Given the description of an element on the screen output the (x, y) to click on. 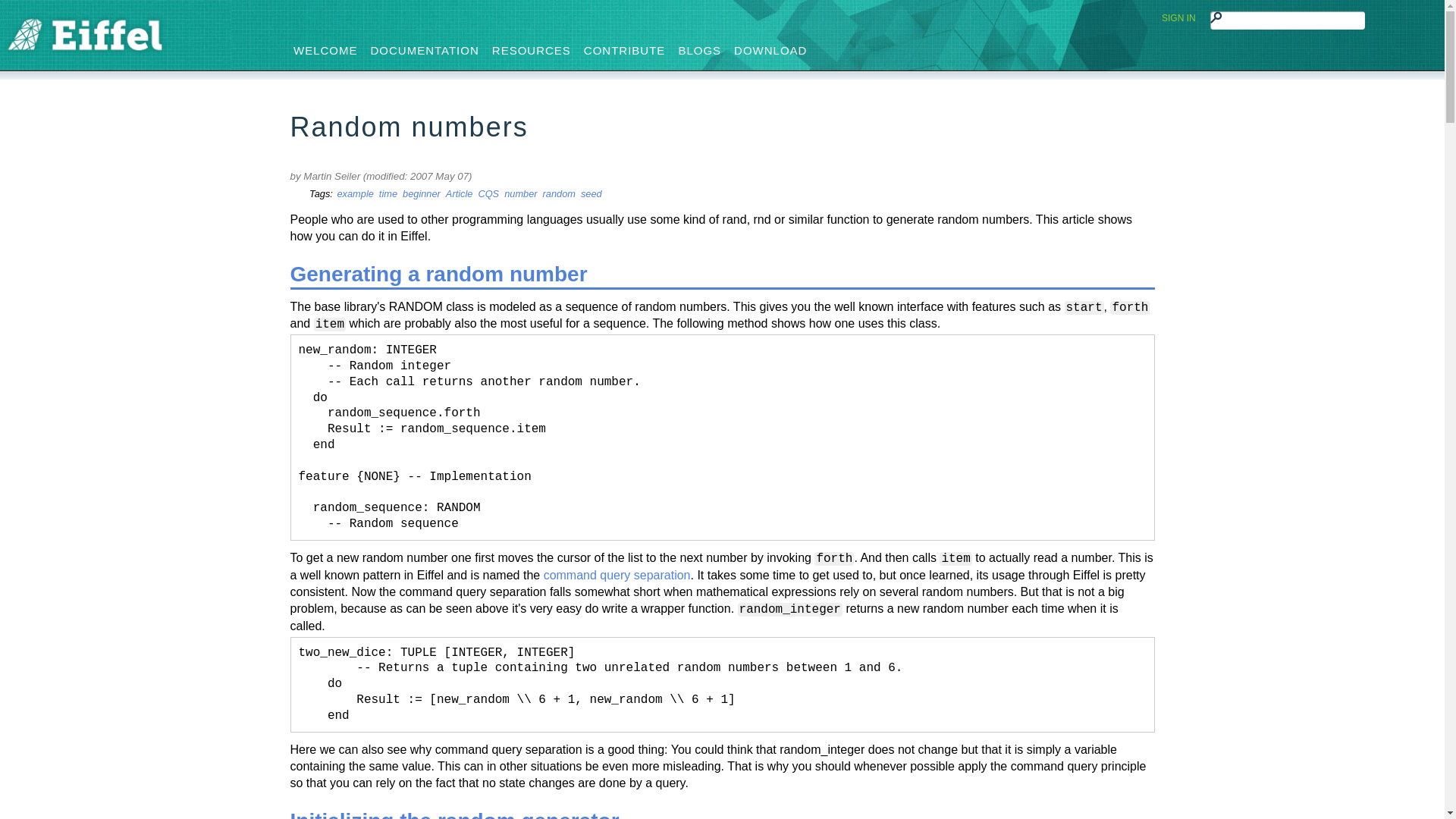
WELCOME (325, 49)
DOCUMENTATION (424, 49)
beginner (422, 193)
CQS (488, 193)
command query separation (616, 574)
CONTRIBUTE (624, 49)
BLOGS (699, 49)
example (354, 193)
random (559, 193)
time (387, 193)
Article (459, 193)
SIGN IN (1178, 18)
number (520, 193)
RESOURCES (531, 49)
DOWNLOAD (770, 49)
